Given the description of an element on the screen output the (x, y) to click on. 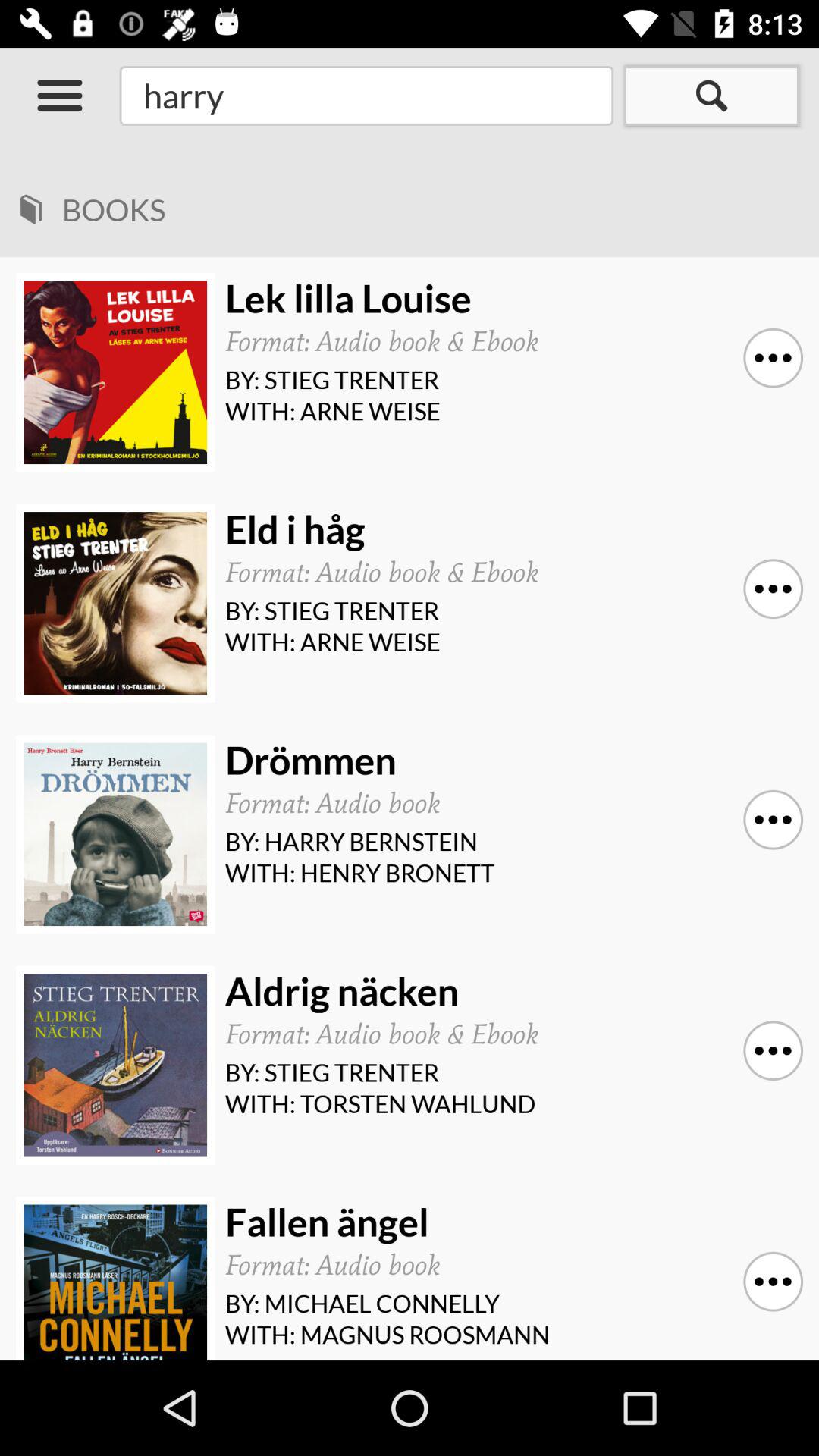
click the second three dots button below the search button on the web page (772, 588)
click on menu button (59, 95)
click on the search field at the top (366, 95)
